Given the description of an element on the screen output the (x, y) to click on. 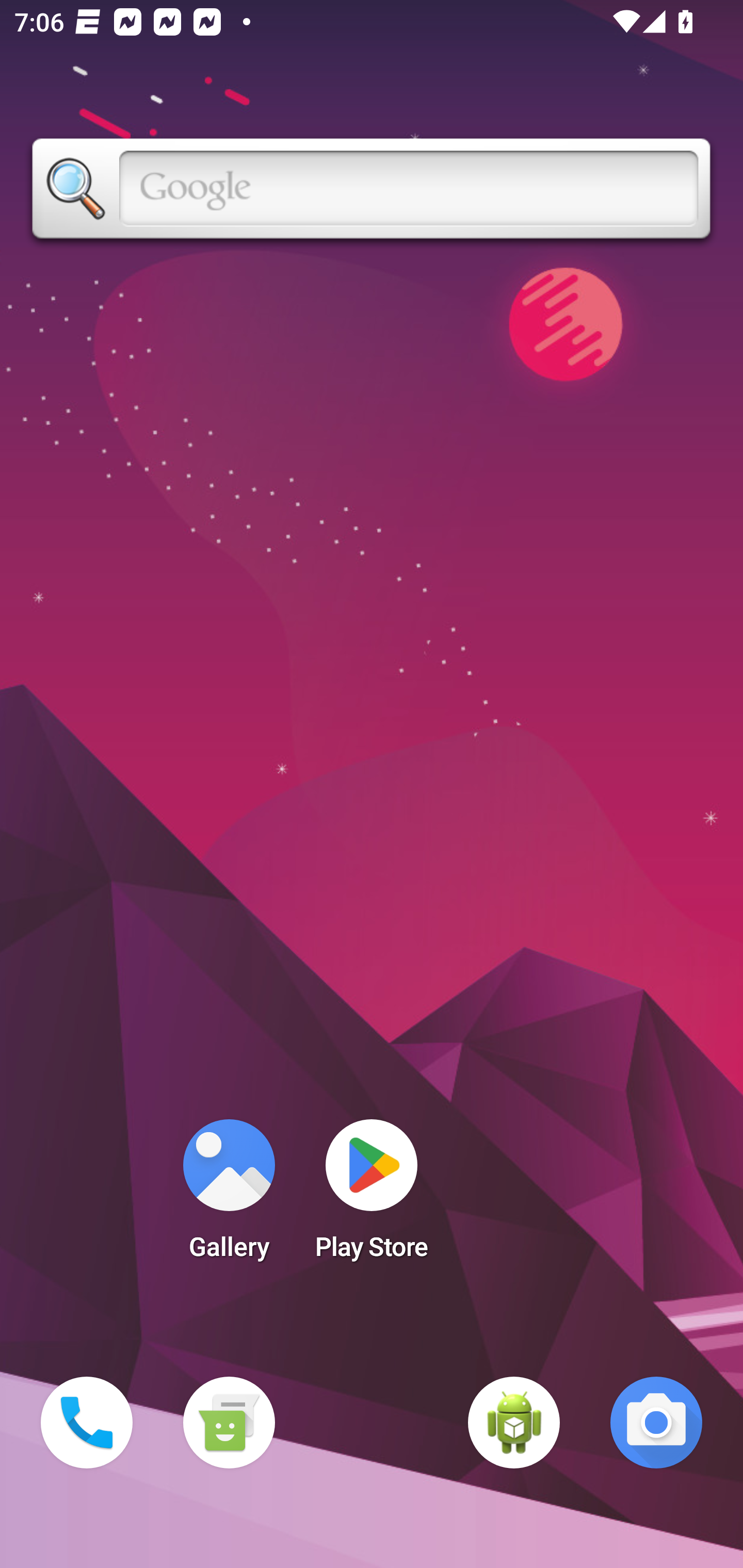
Gallery (228, 1195)
Play Store (371, 1195)
Phone (86, 1422)
Messaging (228, 1422)
WebView Browser Tester (513, 1422)
Camera (656, 1422)
